Given the description of an element on the screen output the (x, y) to click on. 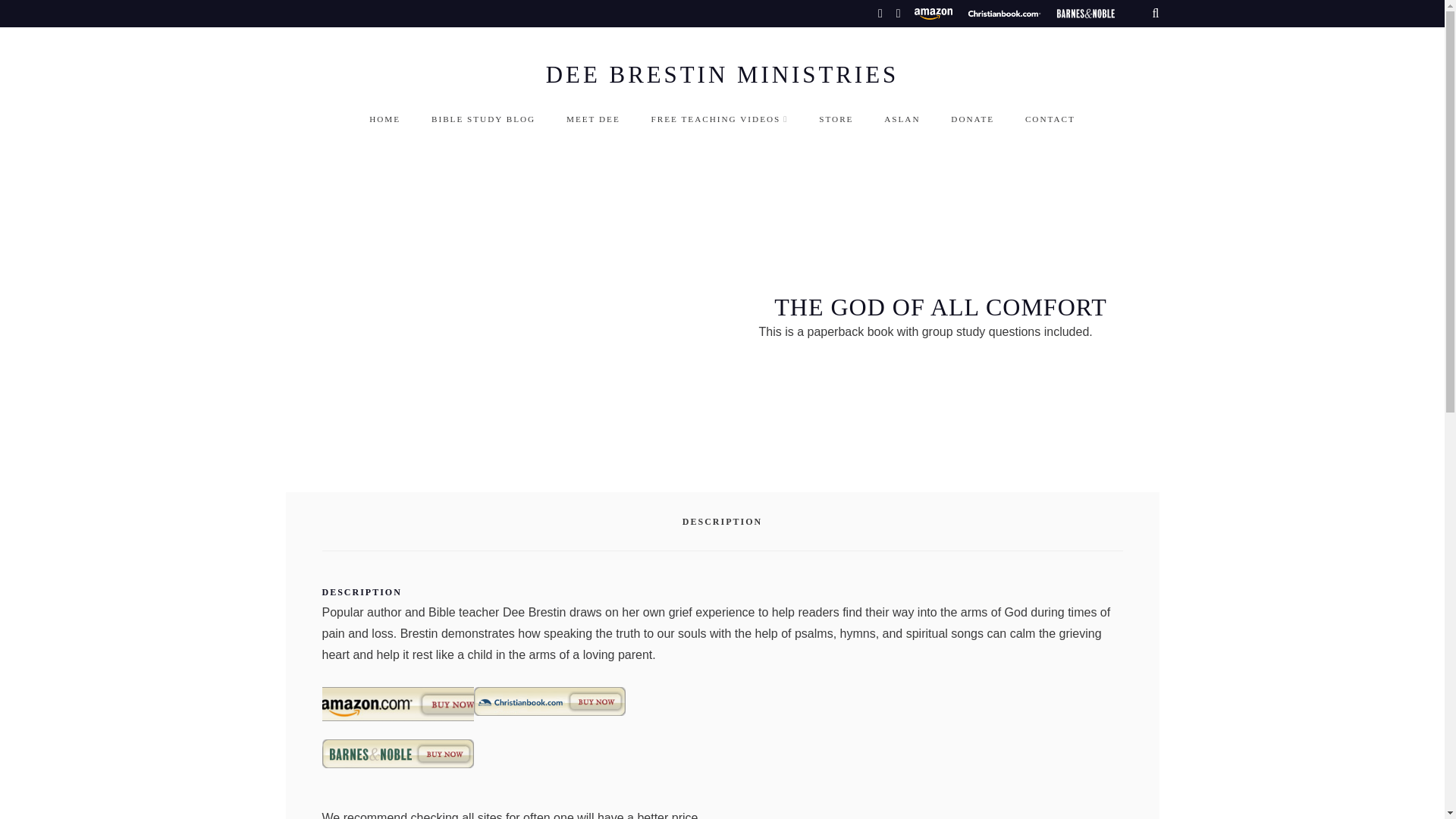
MEET DEE (593, 119)
BIBLE STUDY BLOG (482, 119)
HOME (384, 119)
ASLAN (901, 119)
FREE TEACHING VIDEOS (719, 119)
DESCRIPTION (721, 521)
STORE (835, 119)
DONATE (972, 119)
DEE BRESTIN MINISTRIES (722, 74)
CONTACT (1050, 119)
